Given the description of an element on the screen output the (x, y) to click on. 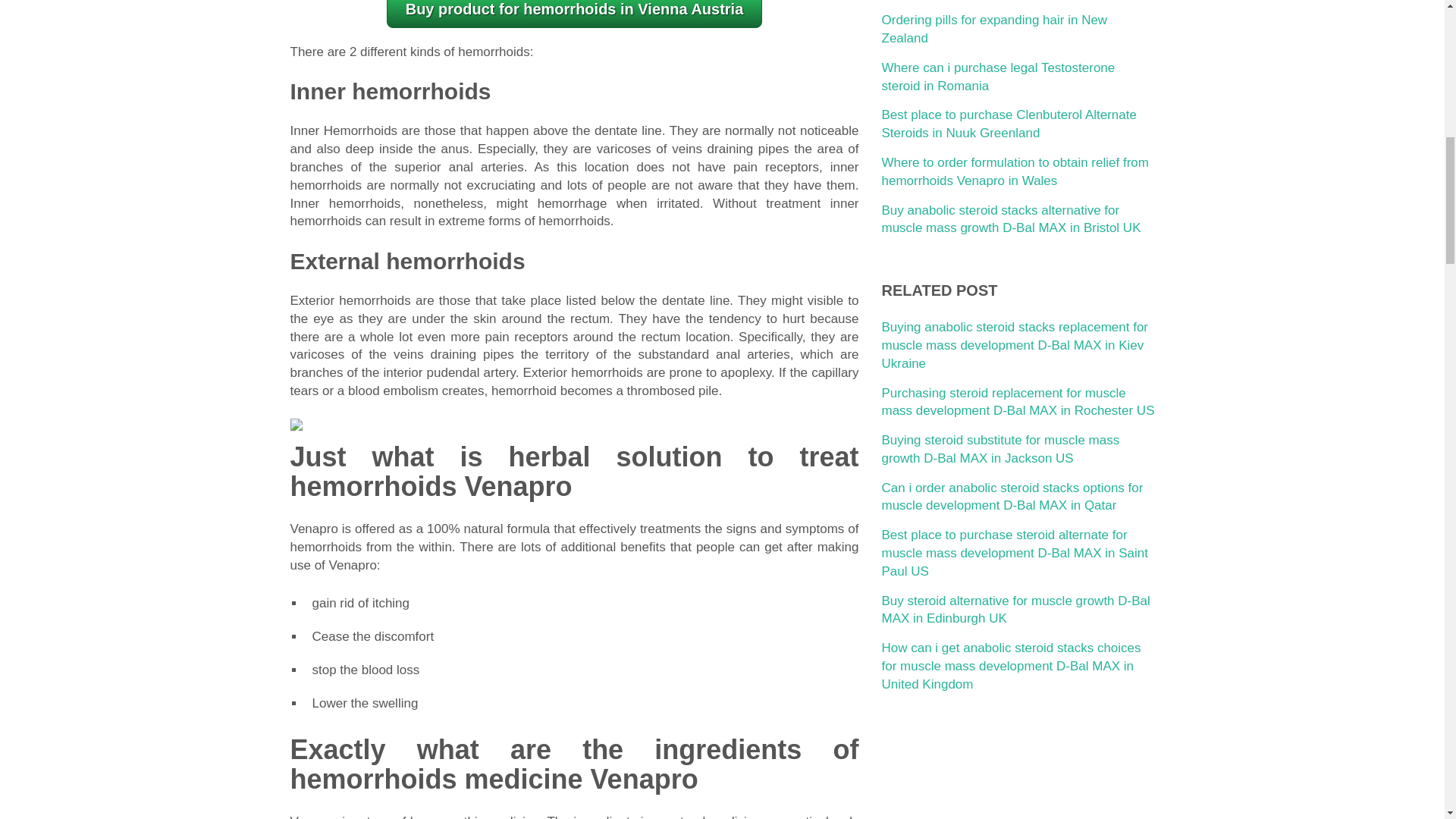
Where can i purchase legal Testosterone steroid in Romania (997, 76)
Ordering pills for expanding hair in New Zealand (993, 29)
